Given the description of an element on the screen output the (x, y) to click on. 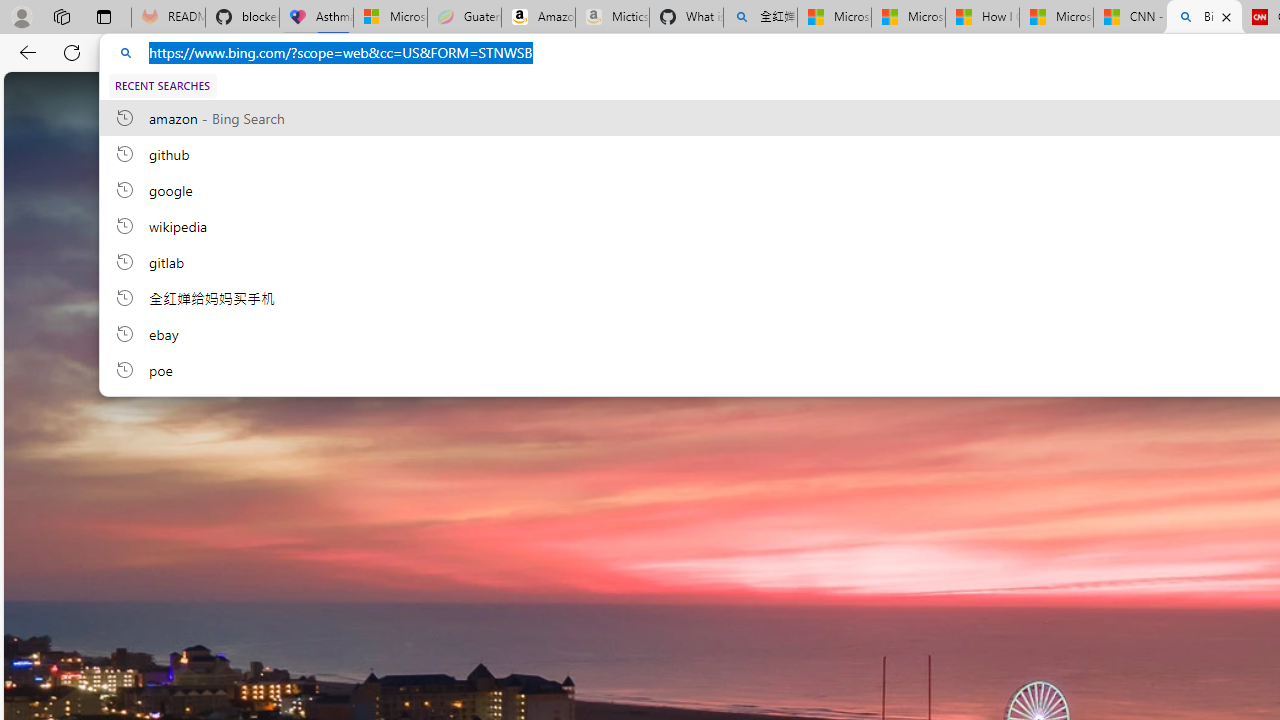
Shopping (721, 95)
Maps (800, 95)
News (868, 95)
Shopping (721, 95)
